Given the description of an element on the screen output the (x, y) to click on. 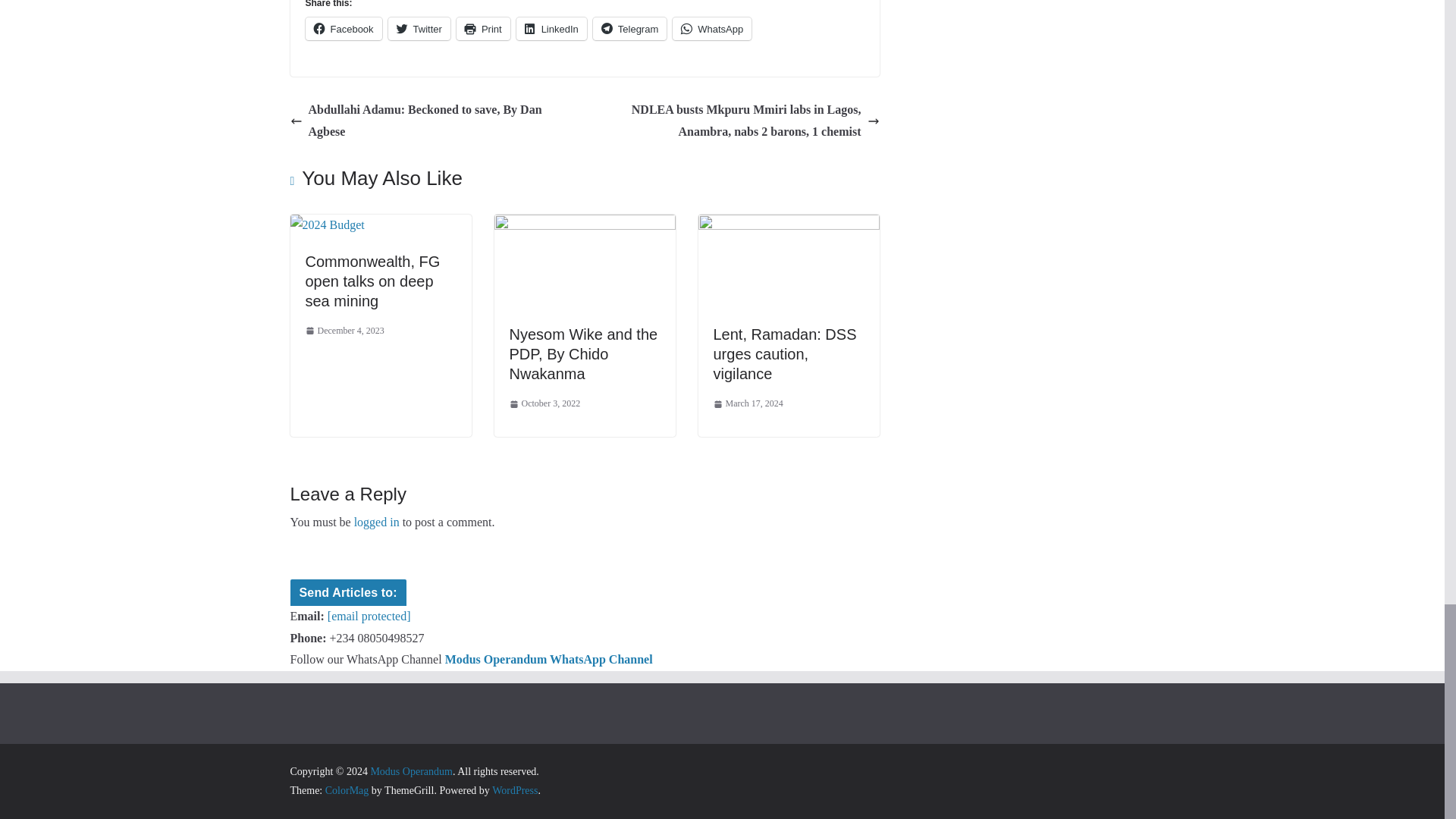
WhatsApp (711, 28)
Click to share on Telegram (629, 28)
Click to share on LinkedIn (551, 28)
Print (484, 28)
Twitter (418, 28)
Facebook (342, 28)
Abdullahi Adamu: Beckoned to save, By Dan Agbese (432, 121)
LinkedIn (551, 28)
December 4, 2023 (344, 330)
